Given the description of an element on the screen output the (x, y) to click on. 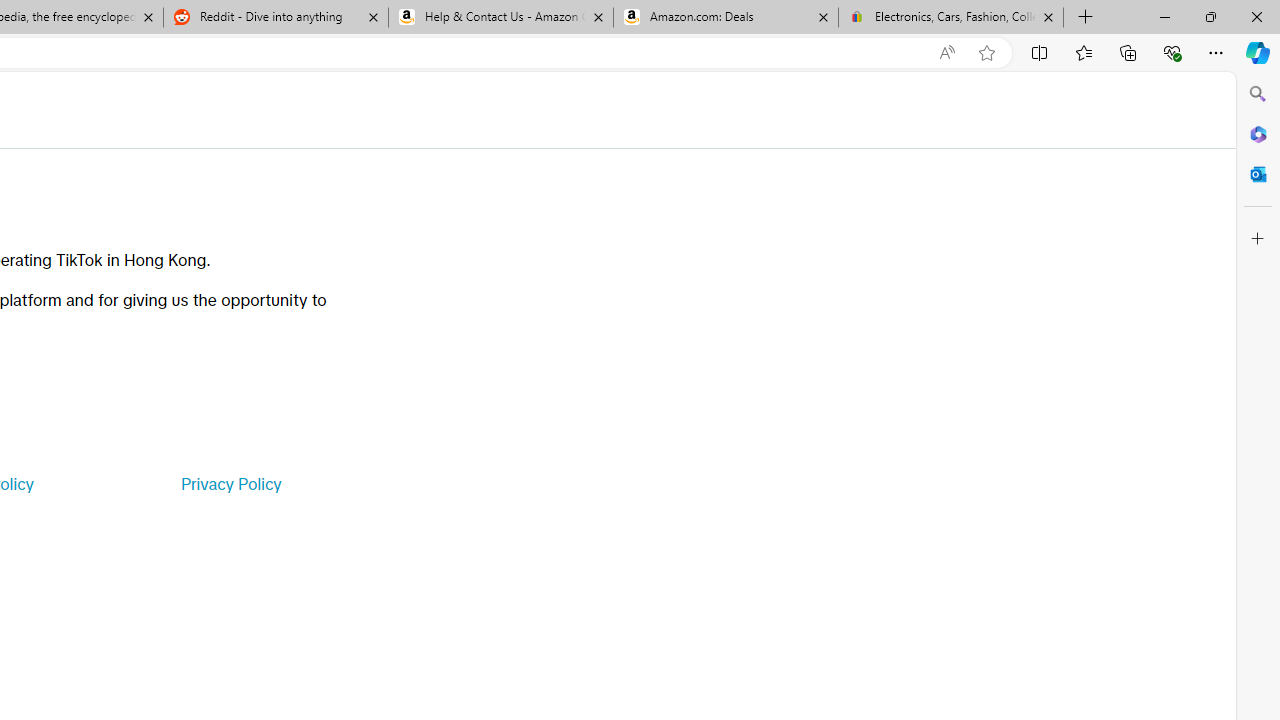
Amazon.com: Deals (726, 17)
